Given the description of an element on the screen output the (x, y) to click on. 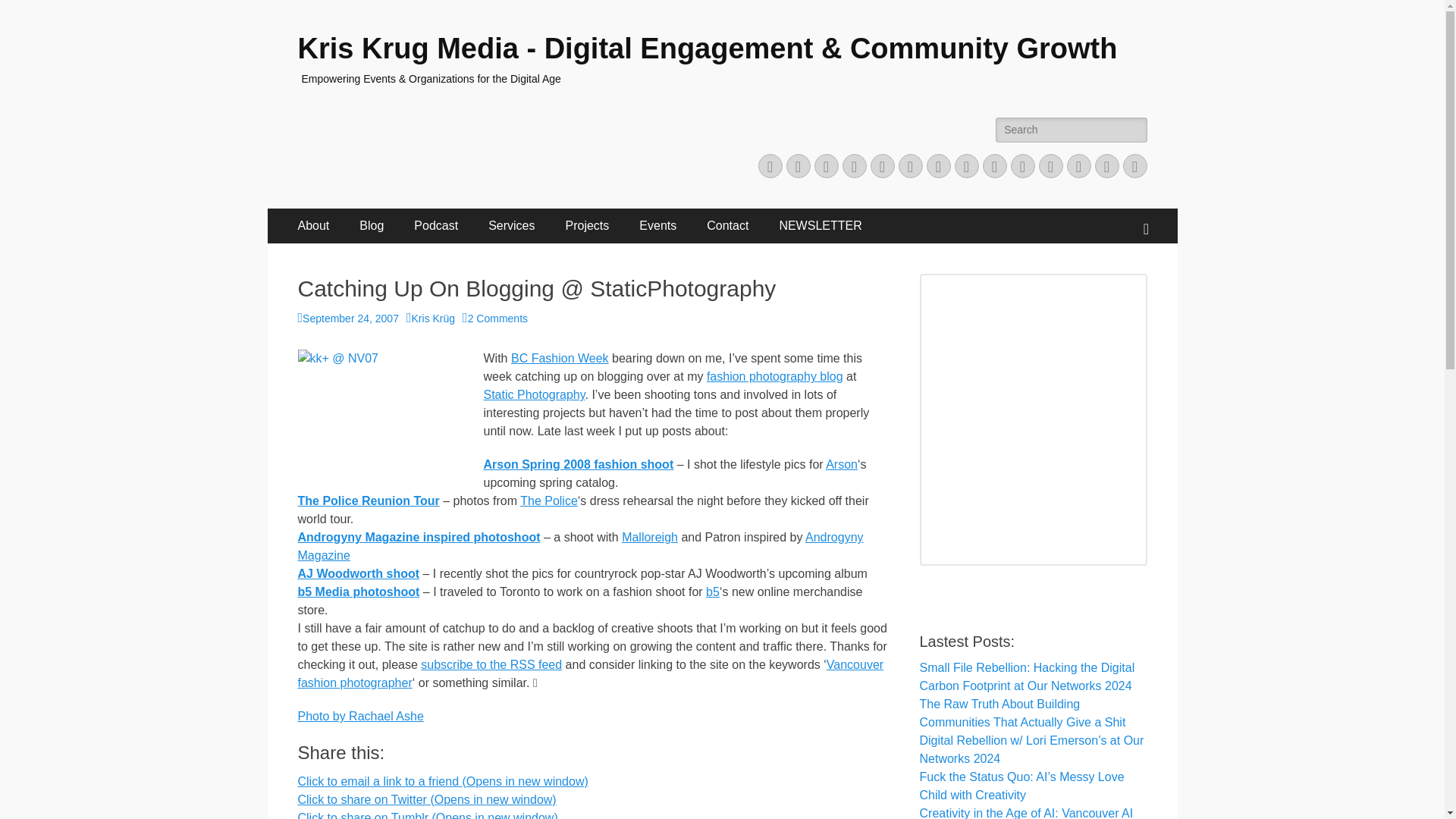
2 Comments (495, 318)
YouTube (994, 165)
Blog (370, 225)
WordPress (882, 165)
Spotify (1077, 165)
Flickr (965, 165)
Link (1134, 165)
September 24, 2007 (347, 318)
Static Photography (534, 394)
Arson Spring 2008 fashion shoot (578, 463)
Instagram (1050, 165)
LinkedIn (938, 165)
Search (33, 13)
Spotify (1077, 165)
fashion photography blog (774, 376)
